Given the description of an element on the screen output the (x, y) to click on. 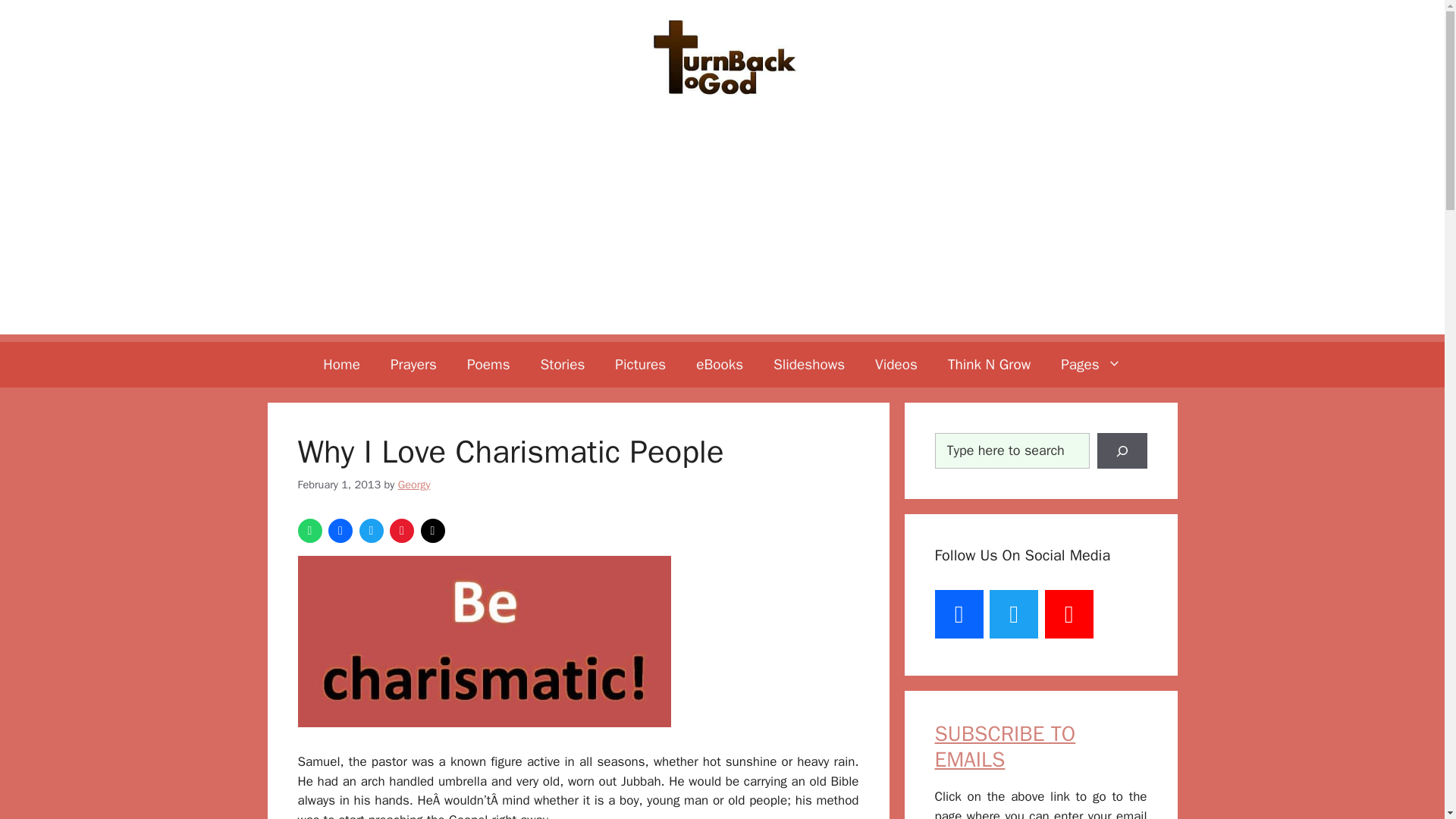
Home (341, 299)
Share via WhatsApp (309, 467)
Prayers (413, 299)
Share via Facebook (340, 467)
Pages (1091, 299)
Turnback To God (722, 24)
Save this as PDF (401, 467)
Share via Email (432, 467)
View all posts by Georgy (413, 419)
Think N Grow (989, 299)
